Given the description of an element on the screen output the (x, y) to click on. 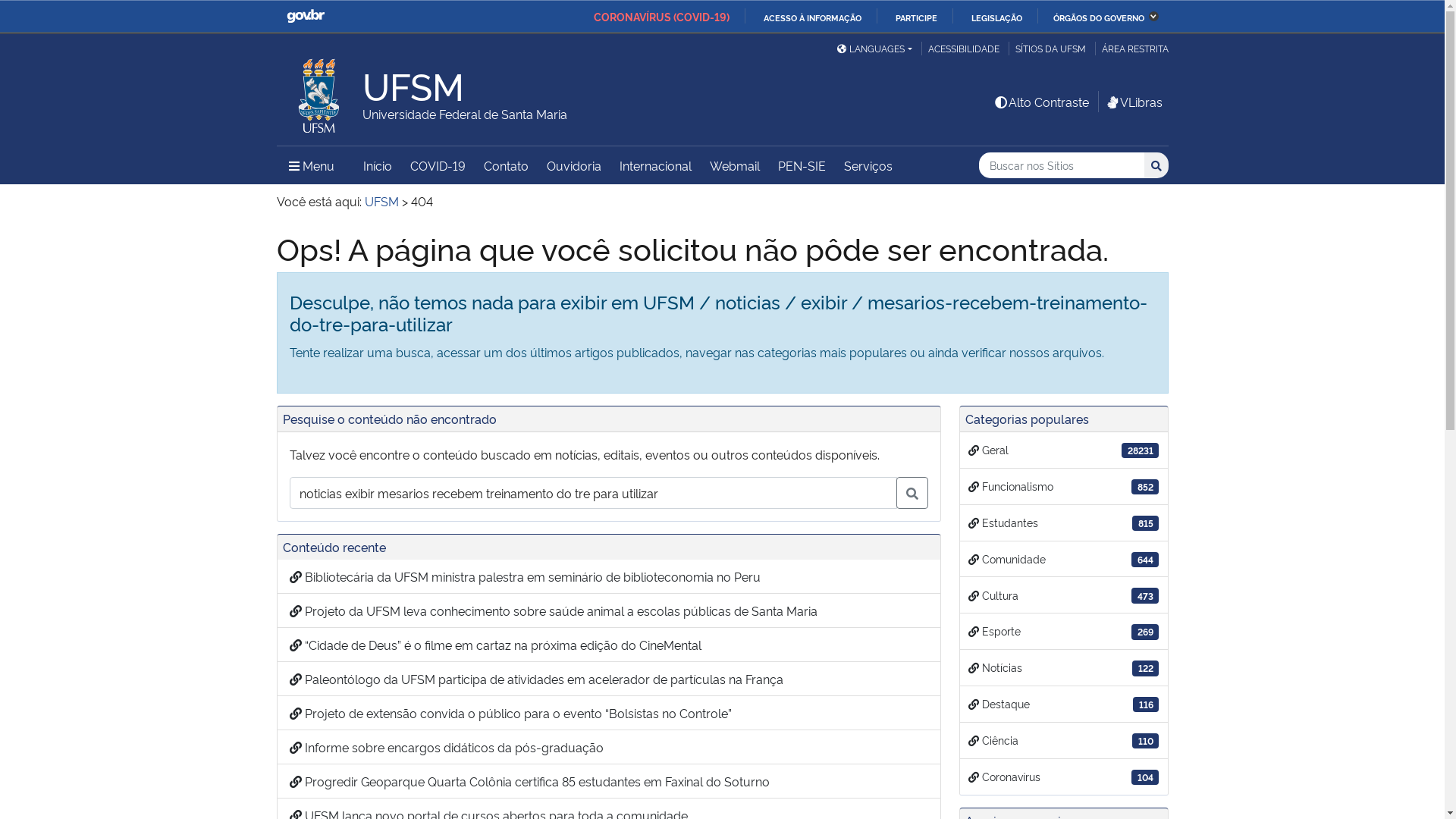
COVID-19 Element type: text (436, 165)
Internacional Element type: text (654, 165)
Cultura
473 Element type: text (1063, 595)
Pesquisar por: Element type: hover (1061, 165)
Comunidade
644 Element type: text (1063, 559)
Geral
28231 Element type: text (1063, 450)
Esporte
269 Element type: text (1063, 631)
UFSM
Universidade Federal de Santa Maria Element type: text (464, 95)
PEN-SIE Element type: text (801, 165)
LANGUAGES Element type: text (874, 48)
PARTICIPE Element type: text (909, 17)
Destaque
116 Element type: text (1063, 704)
Estudantes
815 Element type: text (1063, 523)
Alto Contraste Element type: text (1040, 101)
Ouvidoria Element type: text (573, 165)
ACESSIBILIDADE Element type: text (962, 48)
GOVBR Element type: text (305, 16)
Funcionalismo
852 Element type: text (1063, 486)
Buscar Element type: text (1155, 165)
VLibras Element type: text (1132, 101)
Contato Element type: text (506, 165)
Webmail Element type: text (734, 165)
Logotipo UFSM Element type: hover (319, 91)
UFSM Element type: text (381, 200)
